Given the description of an element on the screen output the (x, y) to click on. 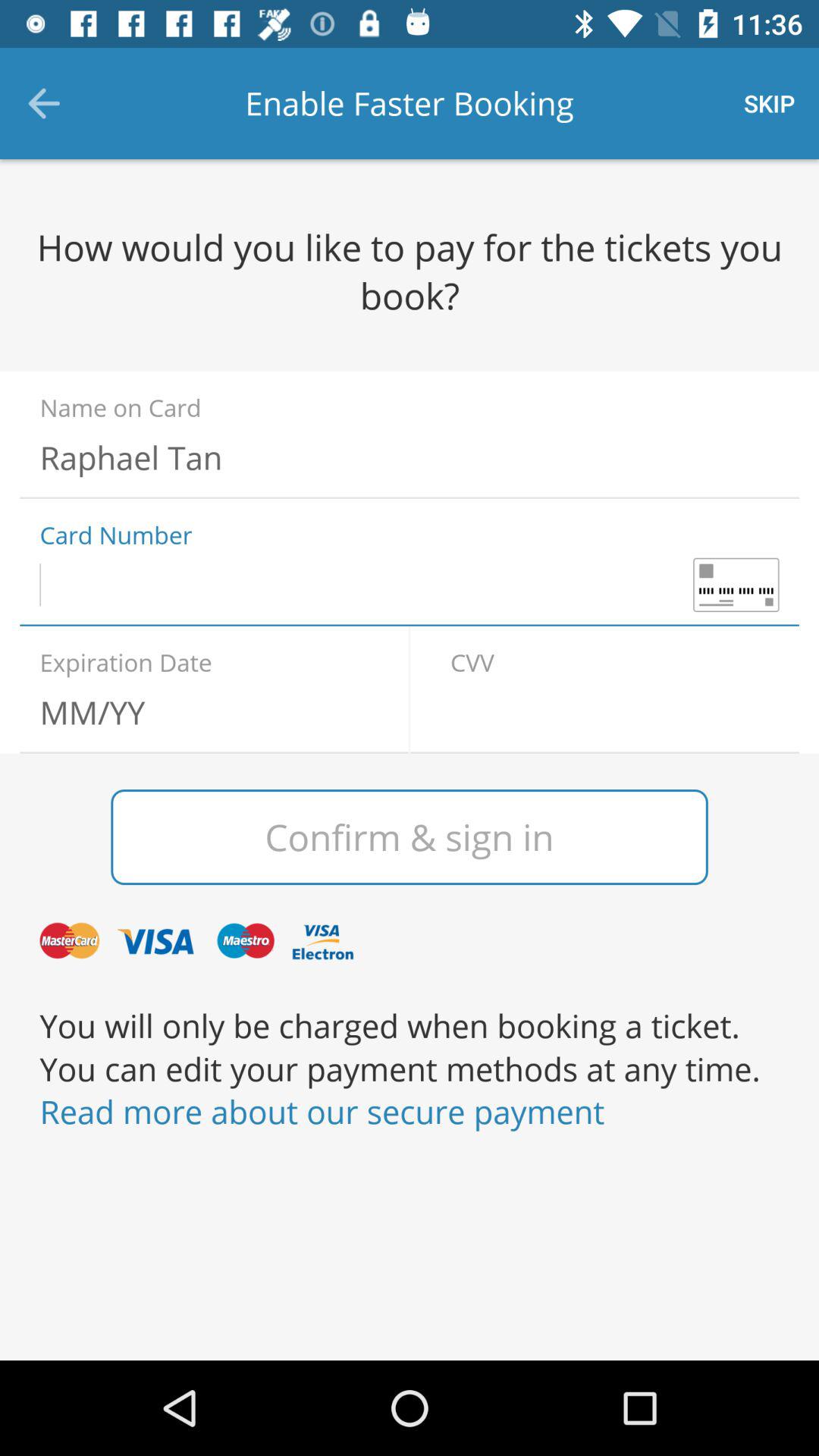
enter credit card expiration date (204, 712)
